Given the description of an element on the screen output the (x, y) to click on. 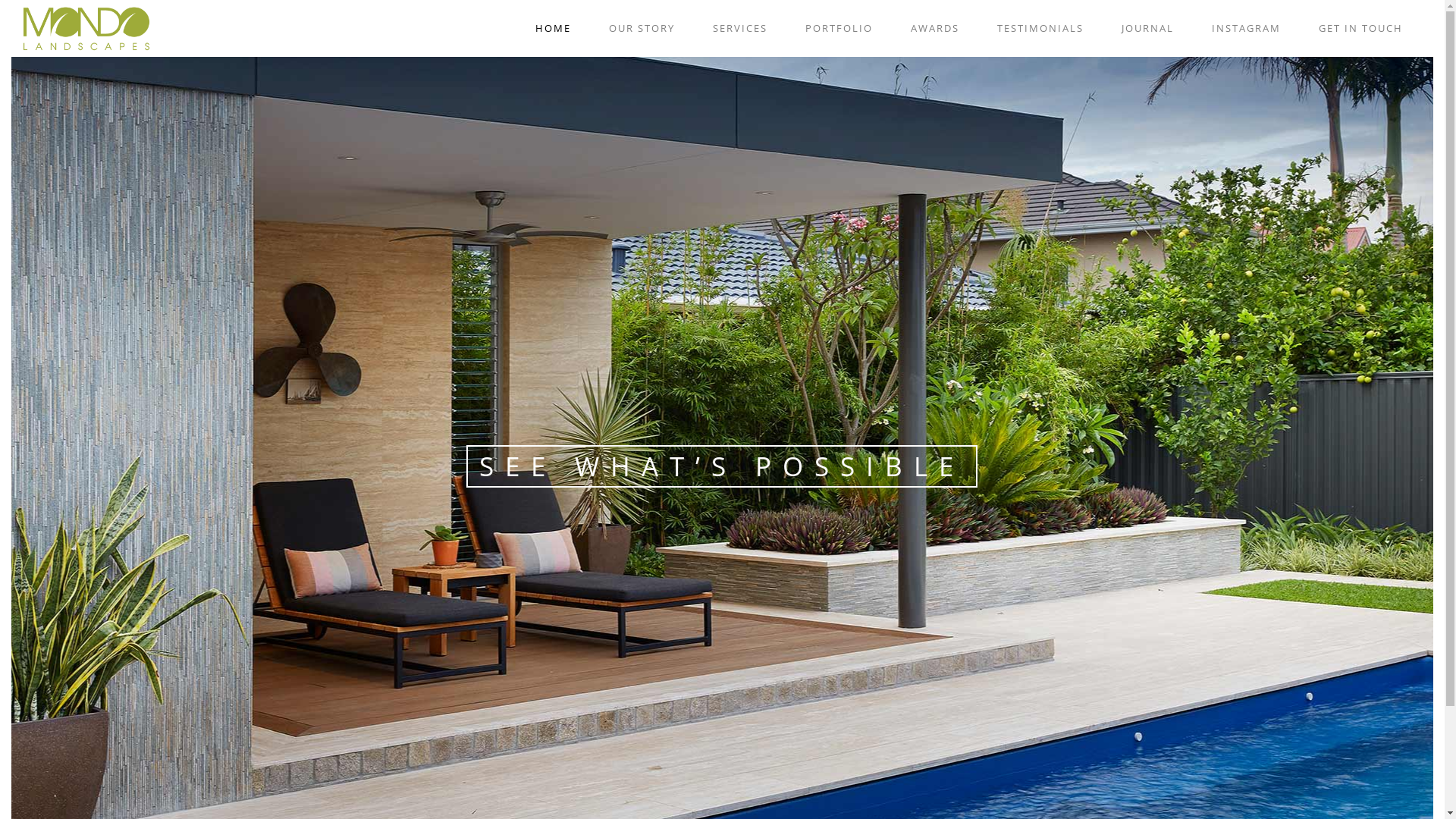
HOME Element type: text (552, 28)
OUR STORY Element type: text (641, 28)
AWARDS Element type: text (934, 28)
GET IN TOUCH Element type: text (1360, 28)
PORTFOLIO Element type: text (838, 28)
TESTIMONIALS Element type: text (1040, 28)
SERVICES Element type: text (739, 28)
INSTAGRAM Element type: text (1245, 28)
JOURNAL Element type: text (1147, 28)
